Given the description of an element on the screen output the (x, y) to click on. 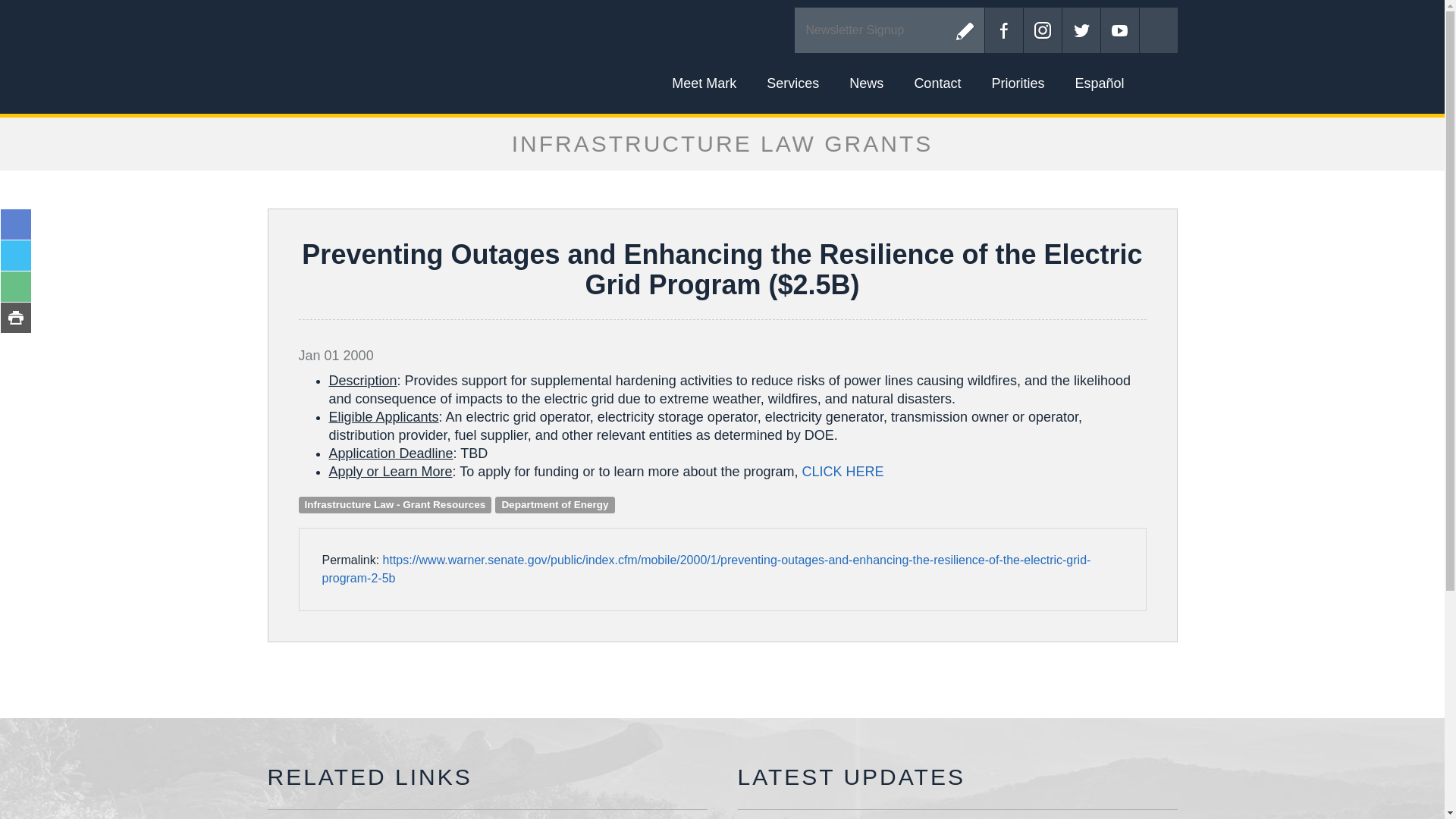
News (866, 83)
Meet Mark (703, 83)
Priorities (1017, 83)
Services (792, 83)
Contact (936, 83)
